Given the description of an element on the screen output the (x, y) to click on. 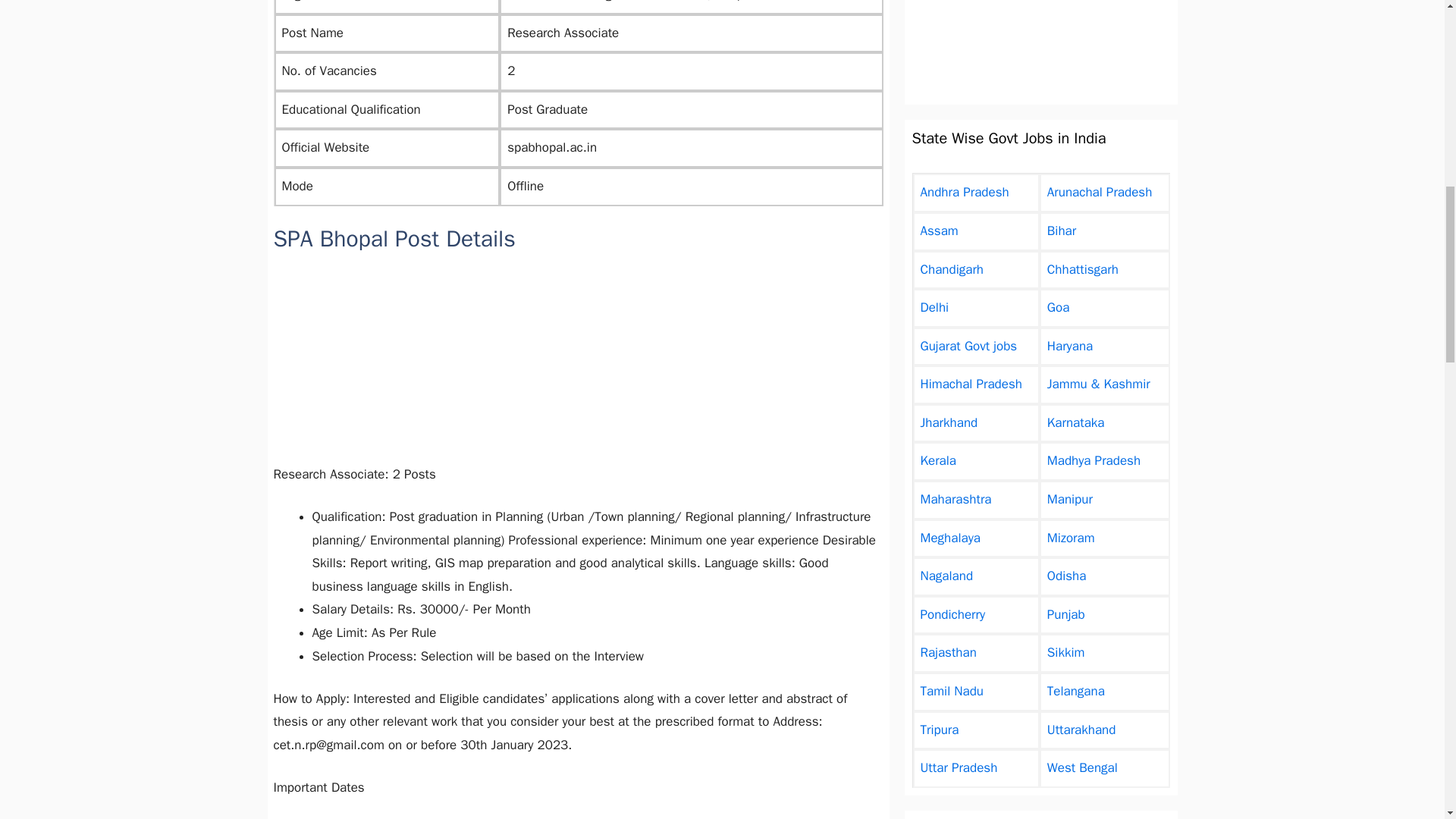
Advertisement (1040, 44)
